Given the description of an element on the screen output the (x, y) to click on. 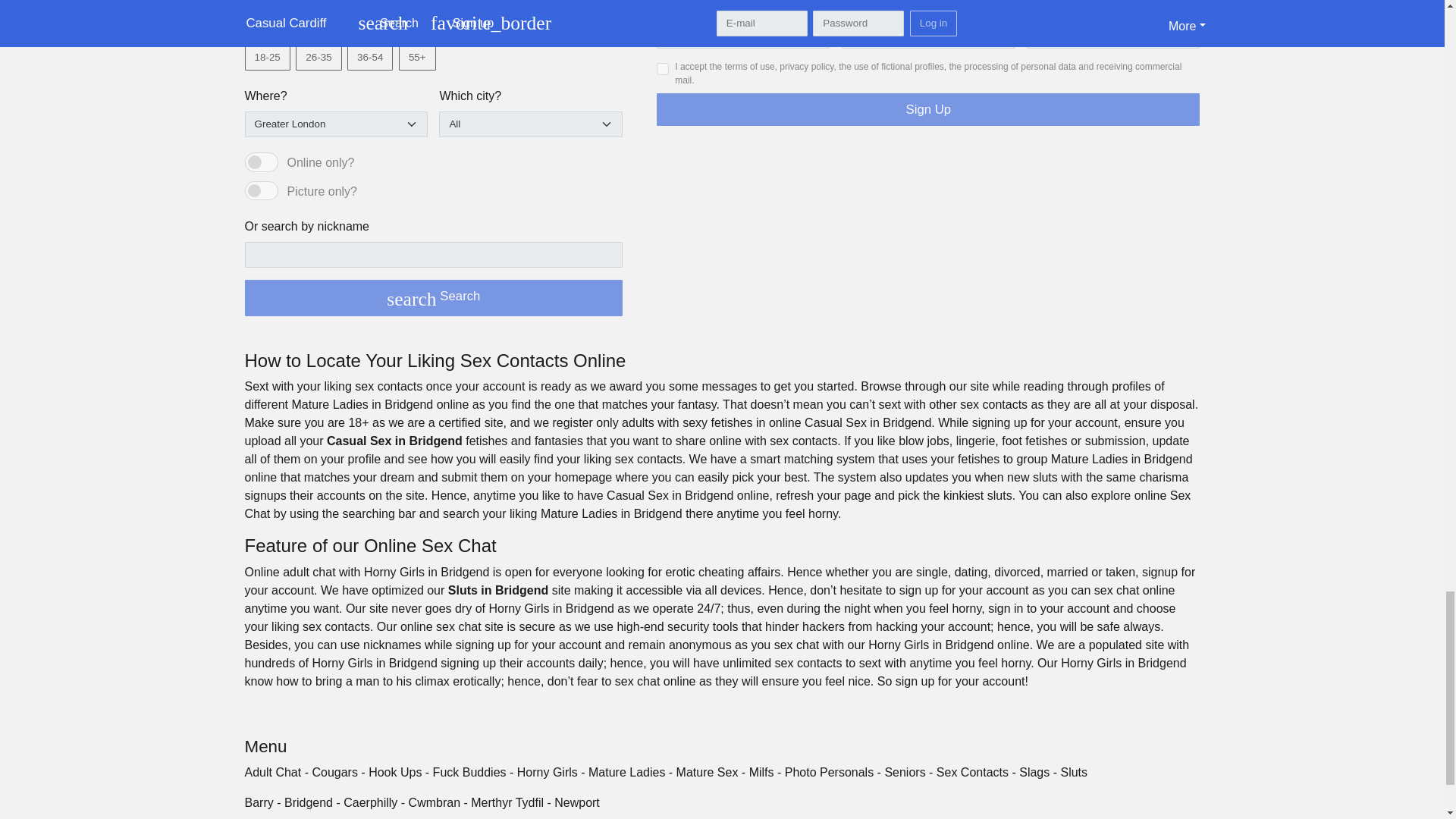
18-25 (248, 49)
36-54 (351, 49)
26-35 (300, 49)
1 (261, 190)
1 (662, 69)
1 (261, 161)
search Search (433, 298)
